Given the description of an element on the screen output the (x, y) to click on. 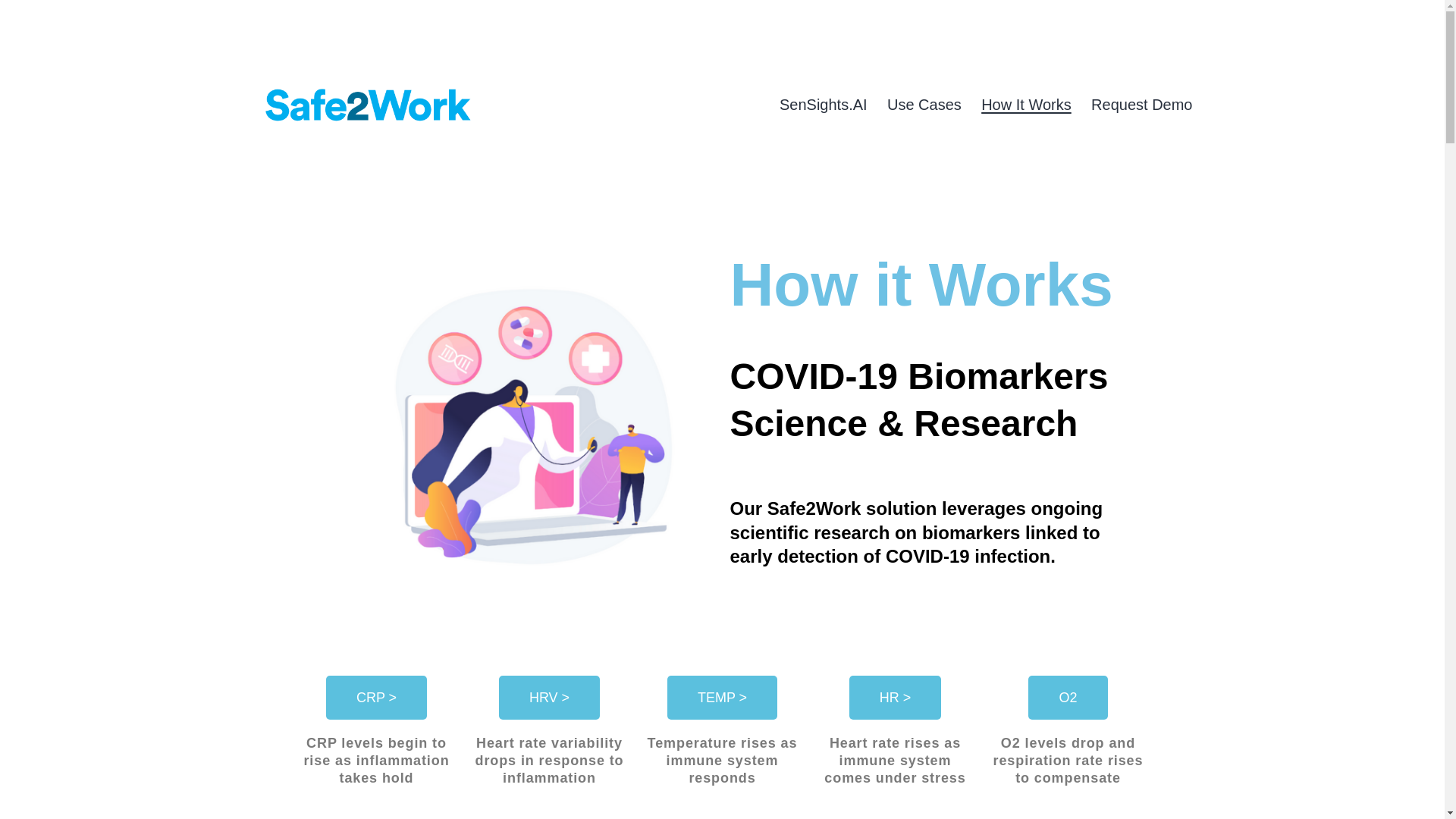
SenSights.AI (823, 104)
How It Works (1026, 104)
Request Demo (1141, 104)
Use Cases (924, 104)
O2 (1066, 697)
